Given the description of an element on the screen output the (x, y) to click on. 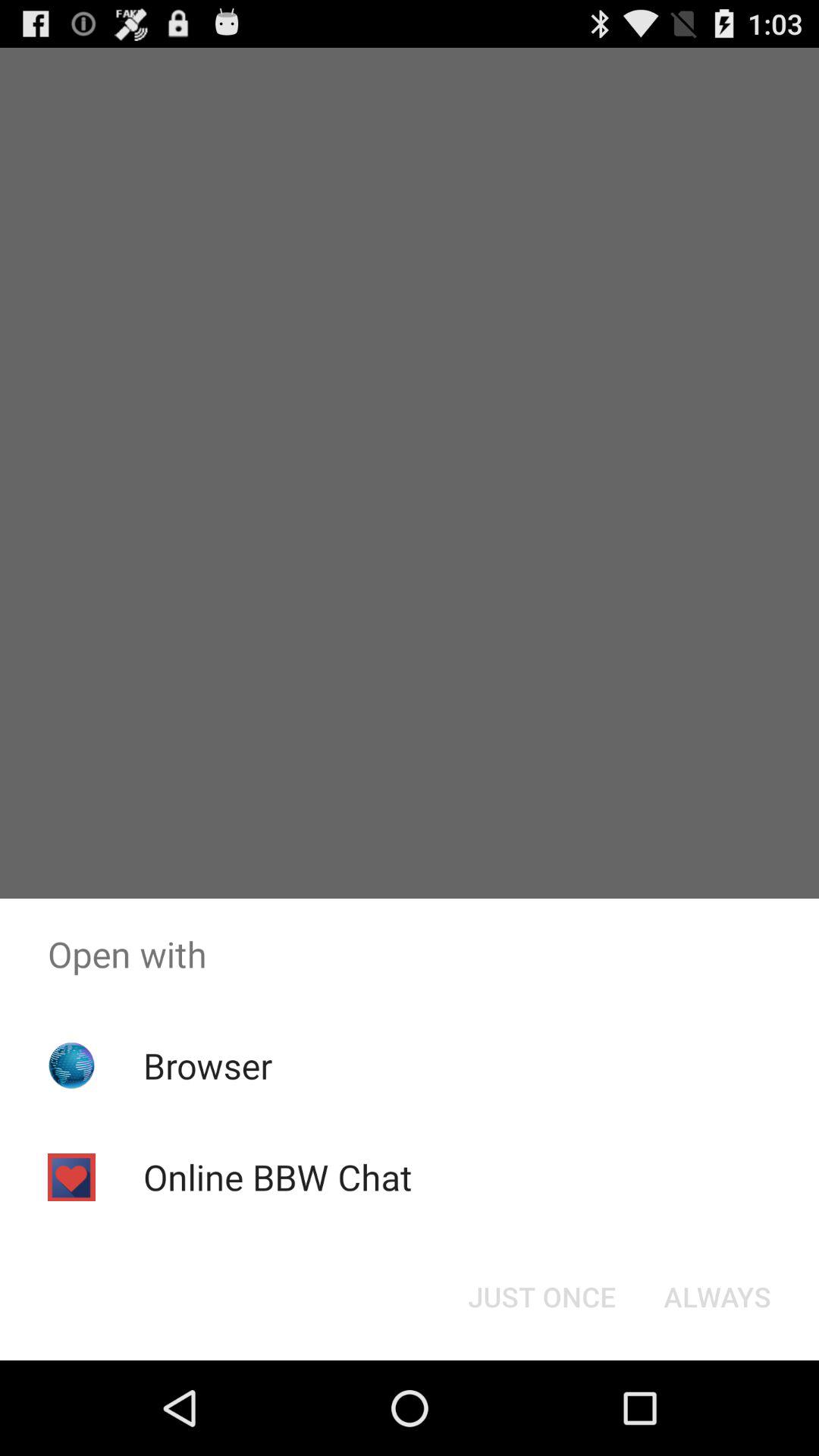
turn on the app below open with (541, 1296)
